Given the description of an element on the screen output the (x, y) to click on. 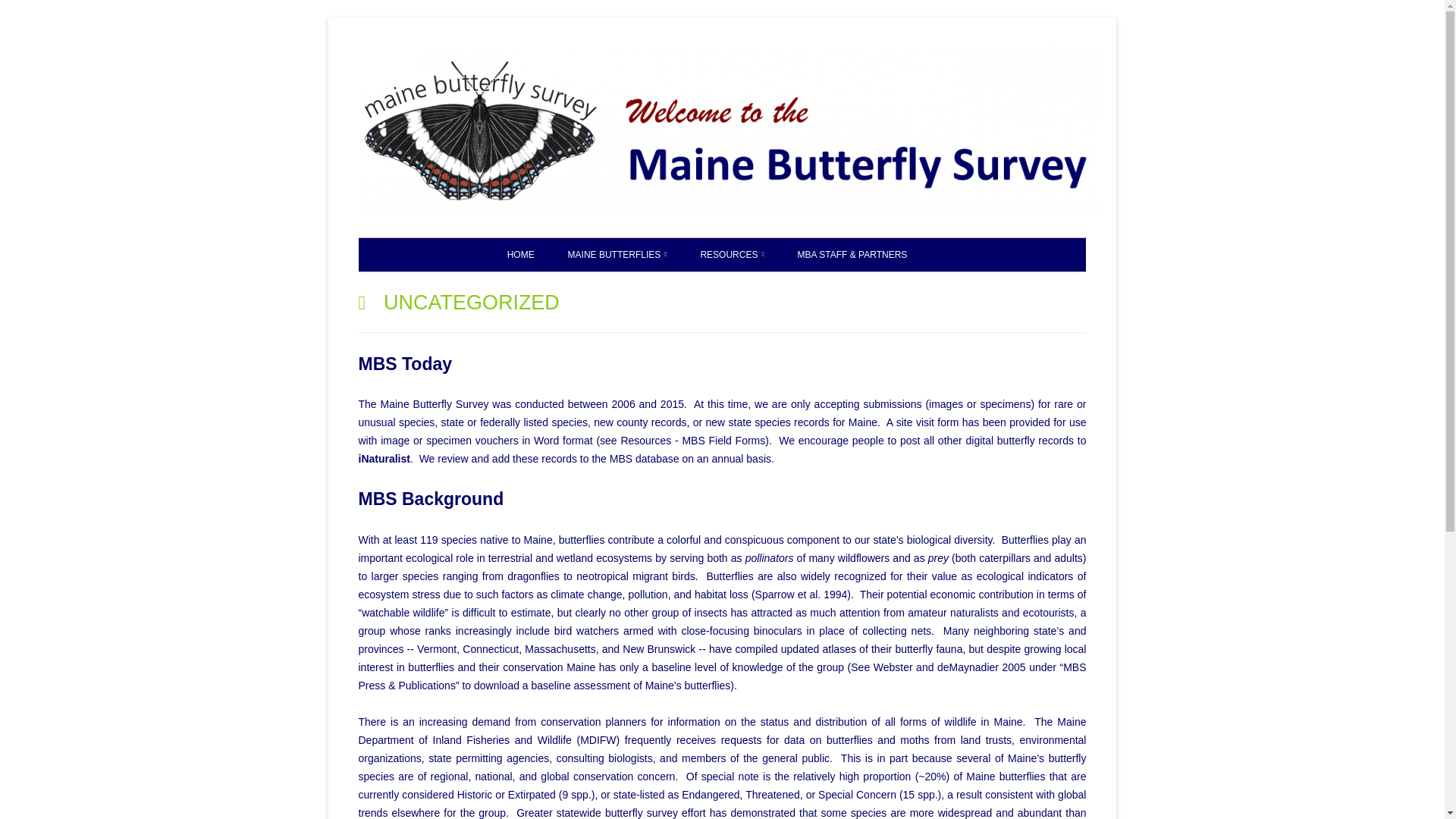
MAINE BUTTERFLIES (616, 254)
Skip to content (1156, 50)
RESOURCES (731, 254)
Skip to content (1156, 50)
